Given the description of an element on the screen output the (x, y) to click on. 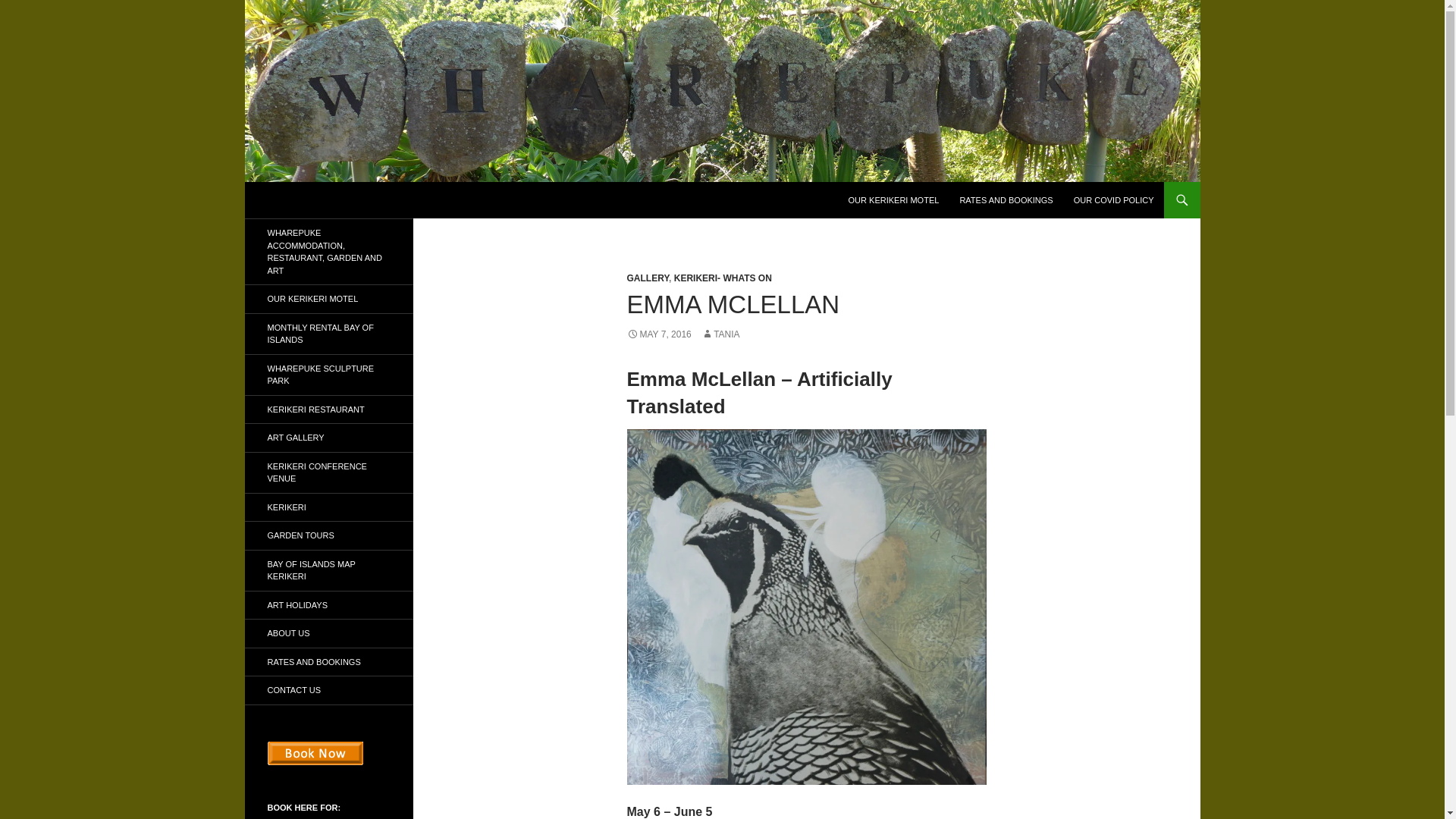
KERIKERI CONFERENCE VENUE (328, 472)
RATES AND BOOKINGS (1005, 199)
KERIKERI (328, 506)
MAY 7, 2016 (658, 334)
GARDEN TOURS (328, 535)
MONTHLY RENTAL BAY OF ISLANDS (328, 333)
OUR COVID POLICY (1113, 199)
WHAREPUKE SCULPTURE PARK (328, 374)
OUR KERIKERI MOTEL (894, 199)
Kerikeri Accommodation (347, 199)
GALLERY (647, 277)
WHAREPUKE ACCOMMODATION, RESTAURANT, GARDEN AND ART (328, 251)
TANIA (720, 334)
ART GALLERY (328, 438)
